Given the description of an element on the screen output the (x, y) to click on. 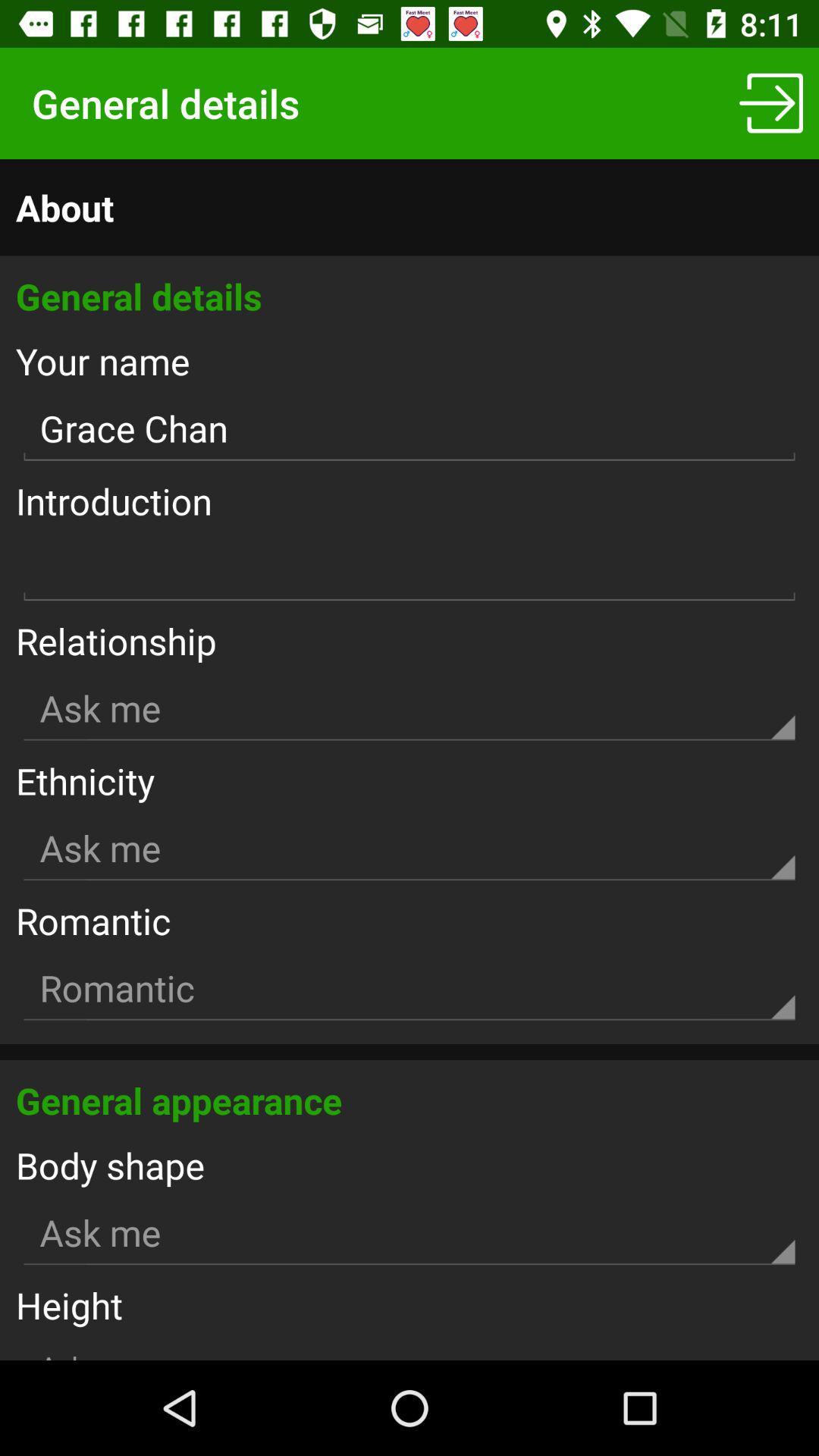
area to type in (409, 568)
